Given the description of an element on the screen output the (x, y) to click on. 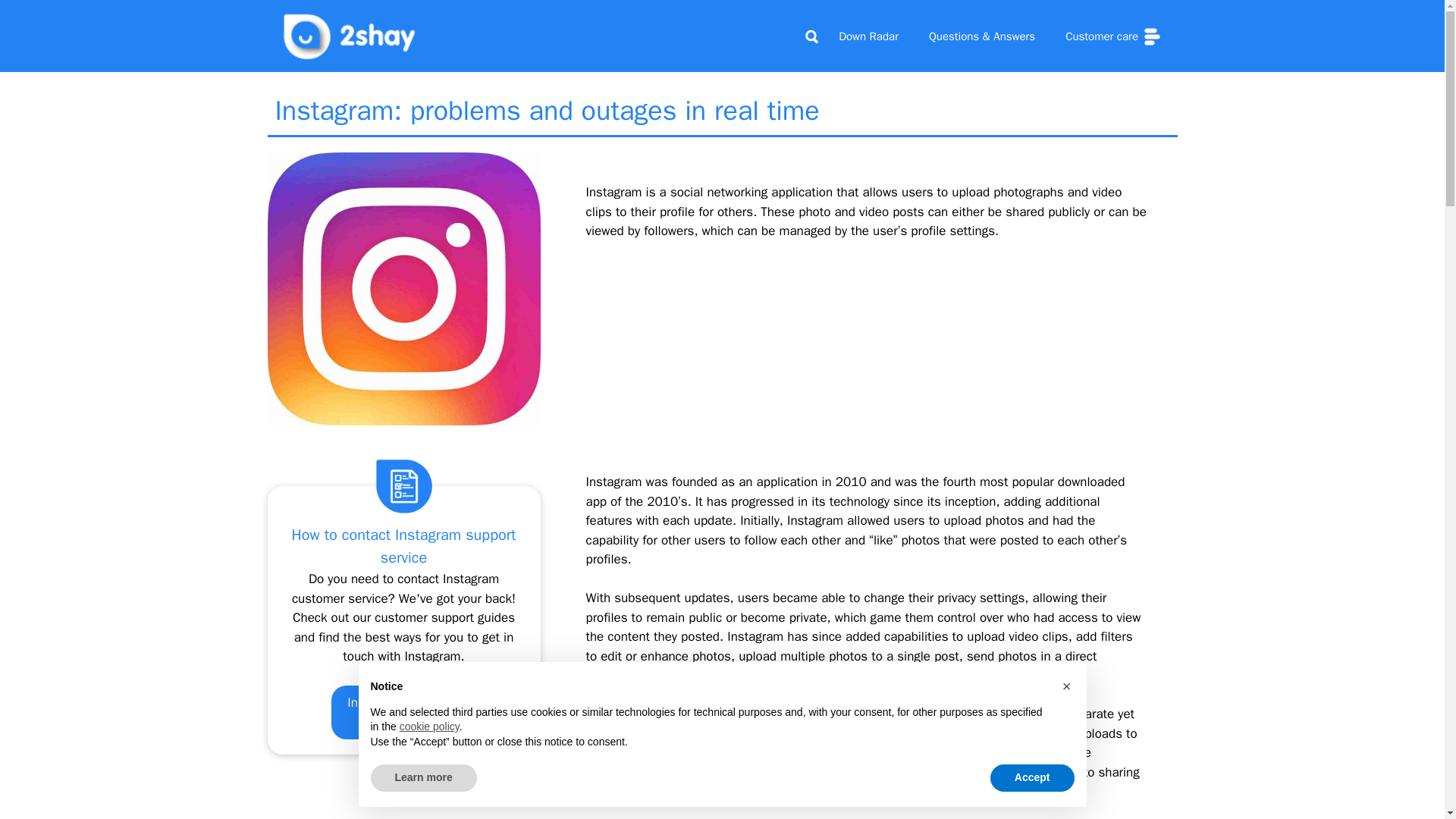
Down Radar (869, 35)
2Shay (350, 35)
2Shay (350, 35)
Advertisement (866, 366)
Advertisement (403, 798)
Instagram customer service (403, 712)
